Given the description of an element on the screen output the (x, y) to click on. 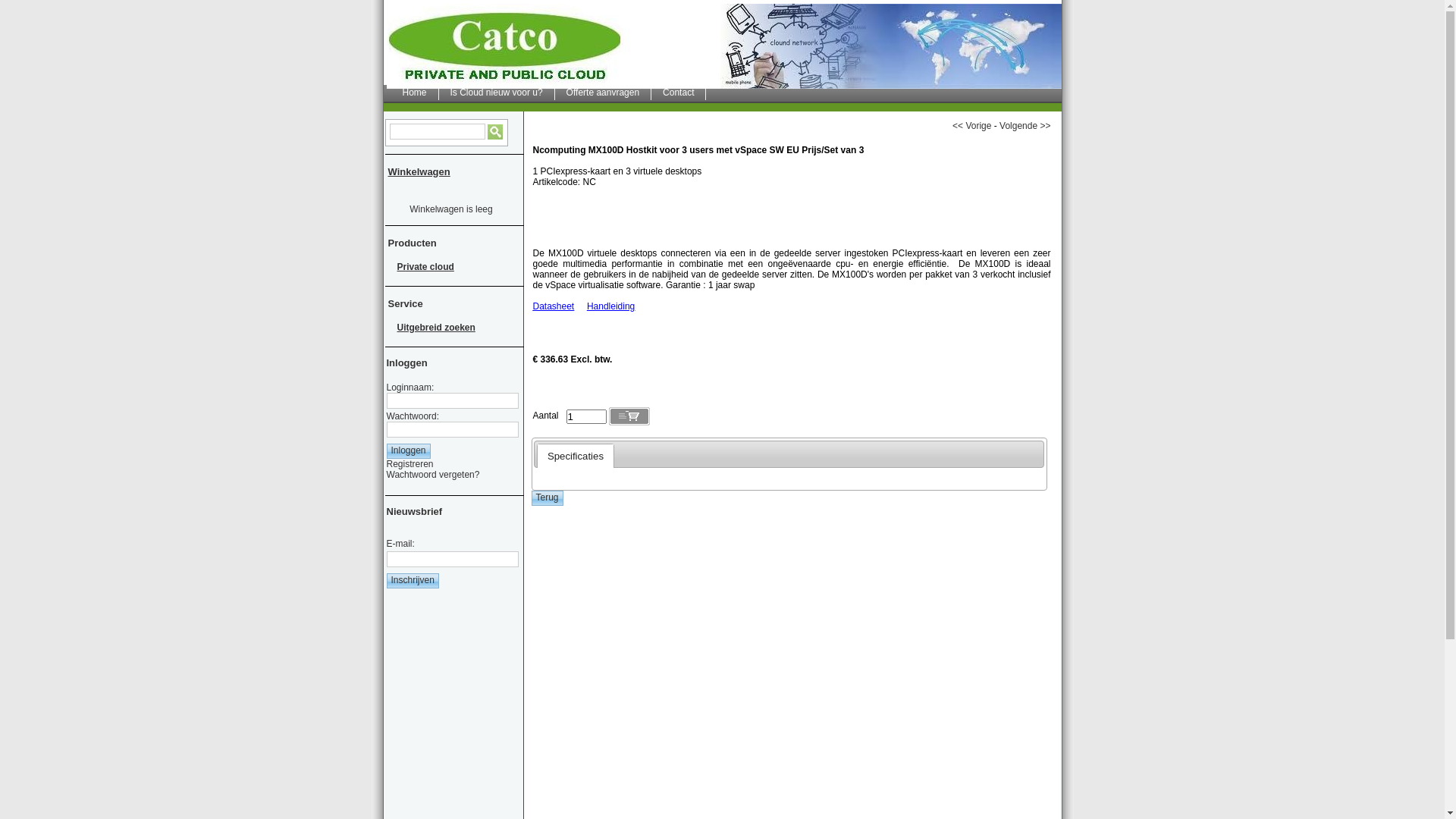
Private cloud Element type: text (450, 266)
Offerte aanvragen Element type: text (603, 92)
<< Vorige Element type: text (971, 125)
Inschrijven Element type: text (412, 580)
Datasheet Element type: text (553, 306)
Specificaties Element type: text (575, 455)
Uitgebreid zoeken Element type: text (450, 327)
Handleiding Element type: text (610, 306)
Contact Element type: text (678, 92)
Volgende >> Element type: text (1024, 125)
Terug Element type: text (546, 497)
Home Element type: text (415, 92)
Winkelwagen Element type: text (421, 174)
Wachtwoord vergeten? Element type: text (433, 474)
Is Cloud nieuw voor u? Element type: text (497, 92)
Registreren Element type: text (409, 463)
Inloggen Element type: text (408, 450)
